Given the description of an element on the screen output the (x, y) to click on. 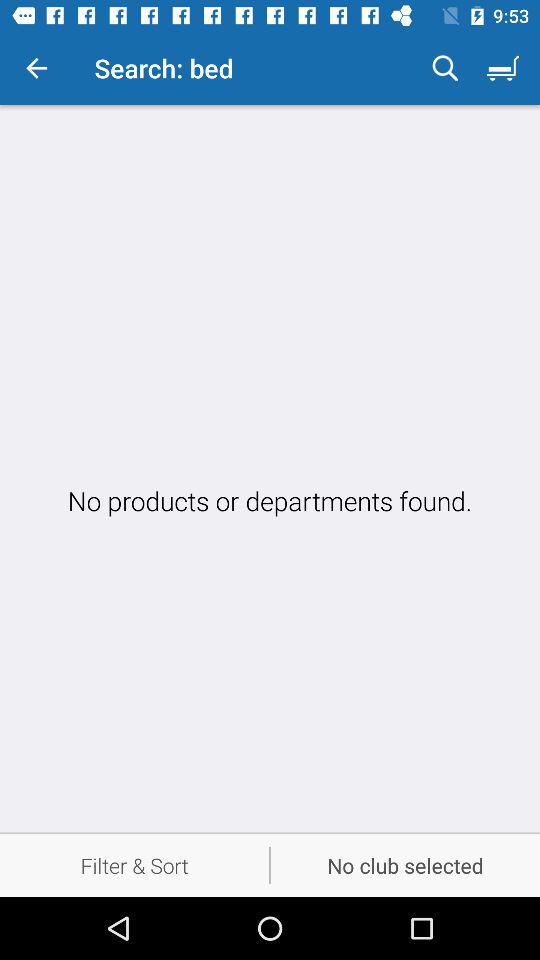
select the item next to the search: bed icon (36, 68)
